Given the description of an element on the screen output the (x, y) to click on. 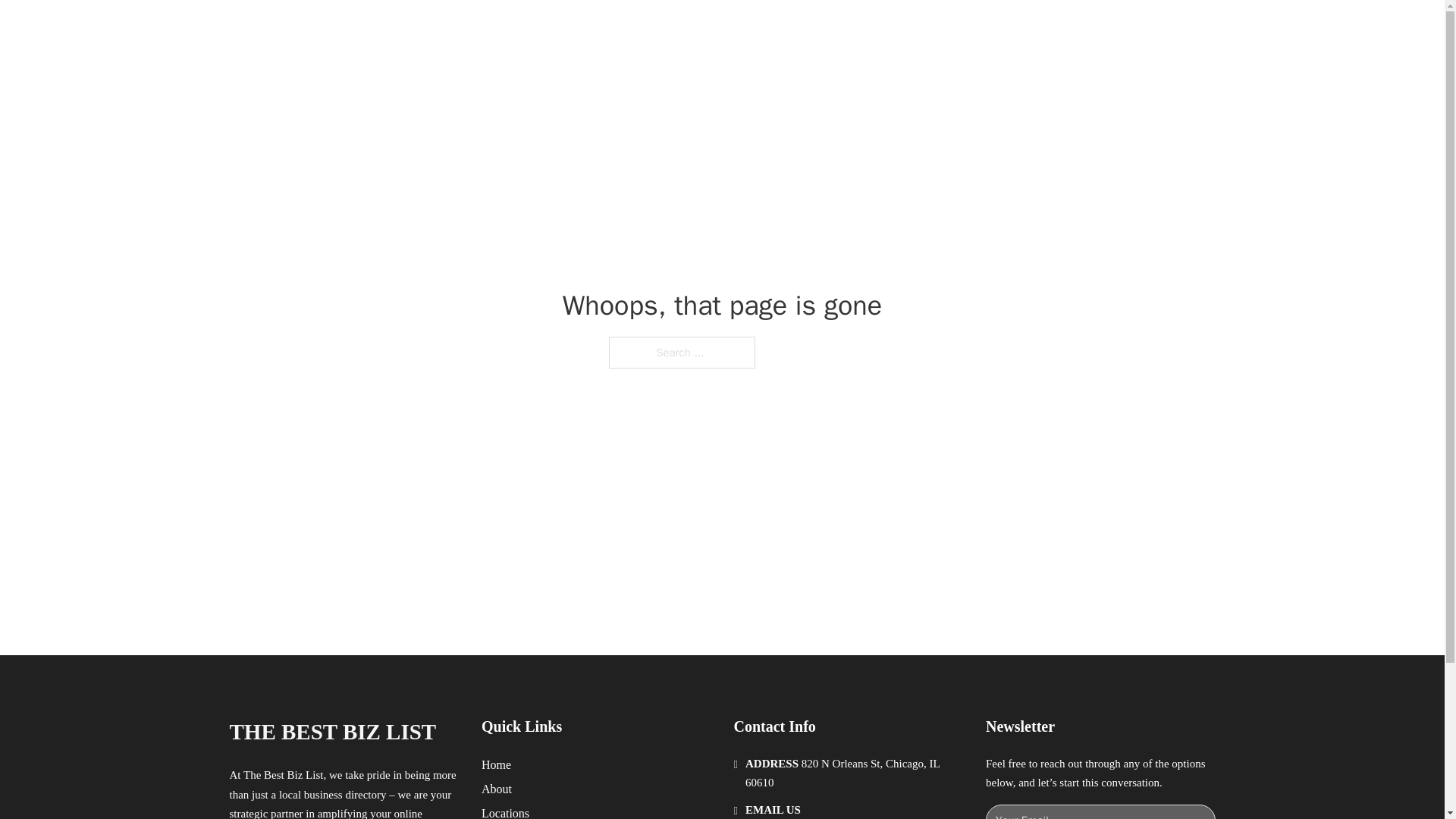
HOME (919, 29)
Home (496, 764)
THE BEST BIZ LIST (403, 28)
THE BEST BIZ LIST (331, 732)
Locations (505, 811)
LOCATIONS (990, 29)
About (496, 788)
